Given the description of an element on the screen output the (x, y) to click on. 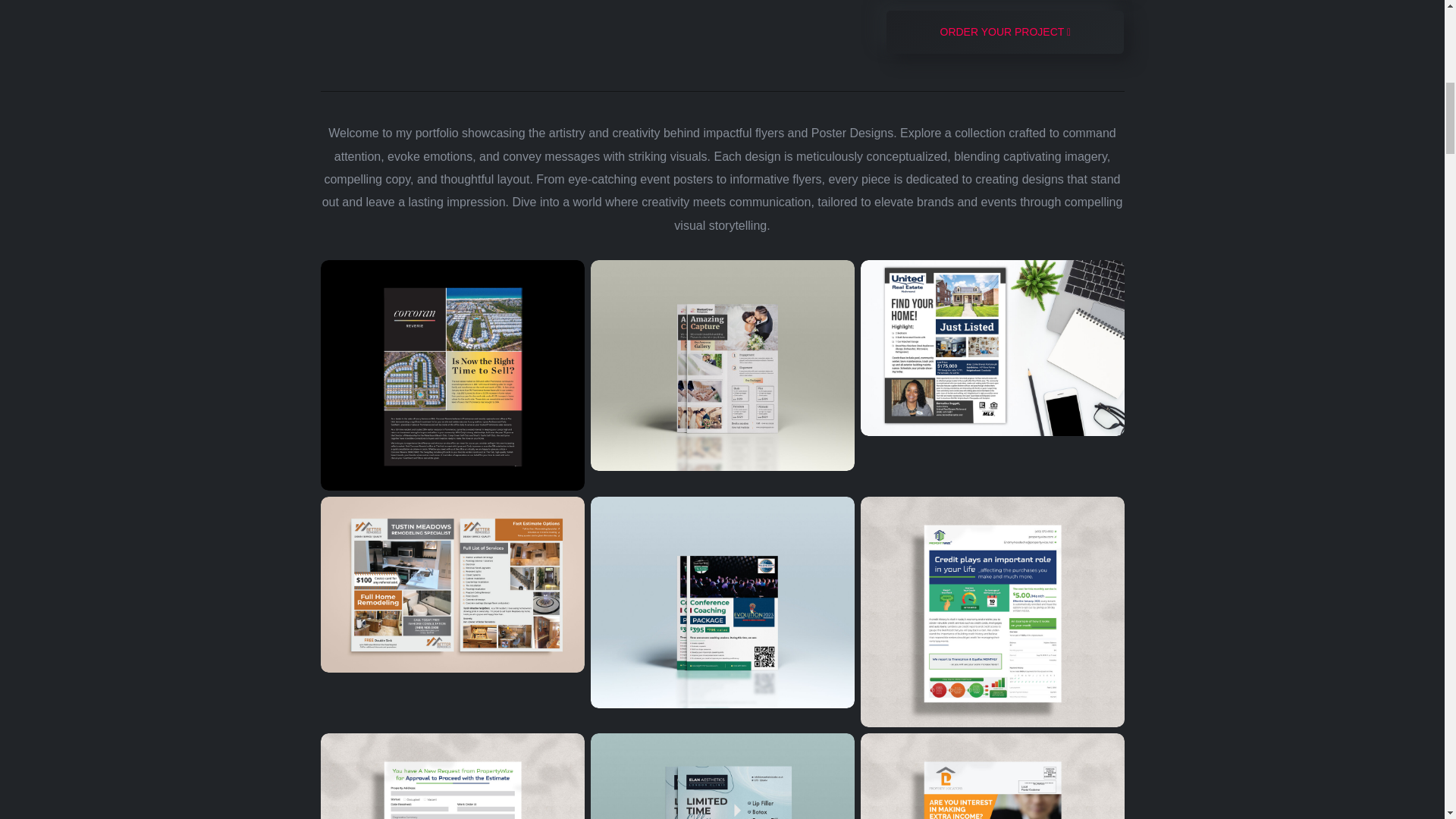
ORDER YOUR PROJECT (1005, 32)
